Given the description of an element on the screen output the (x, y) to click on. 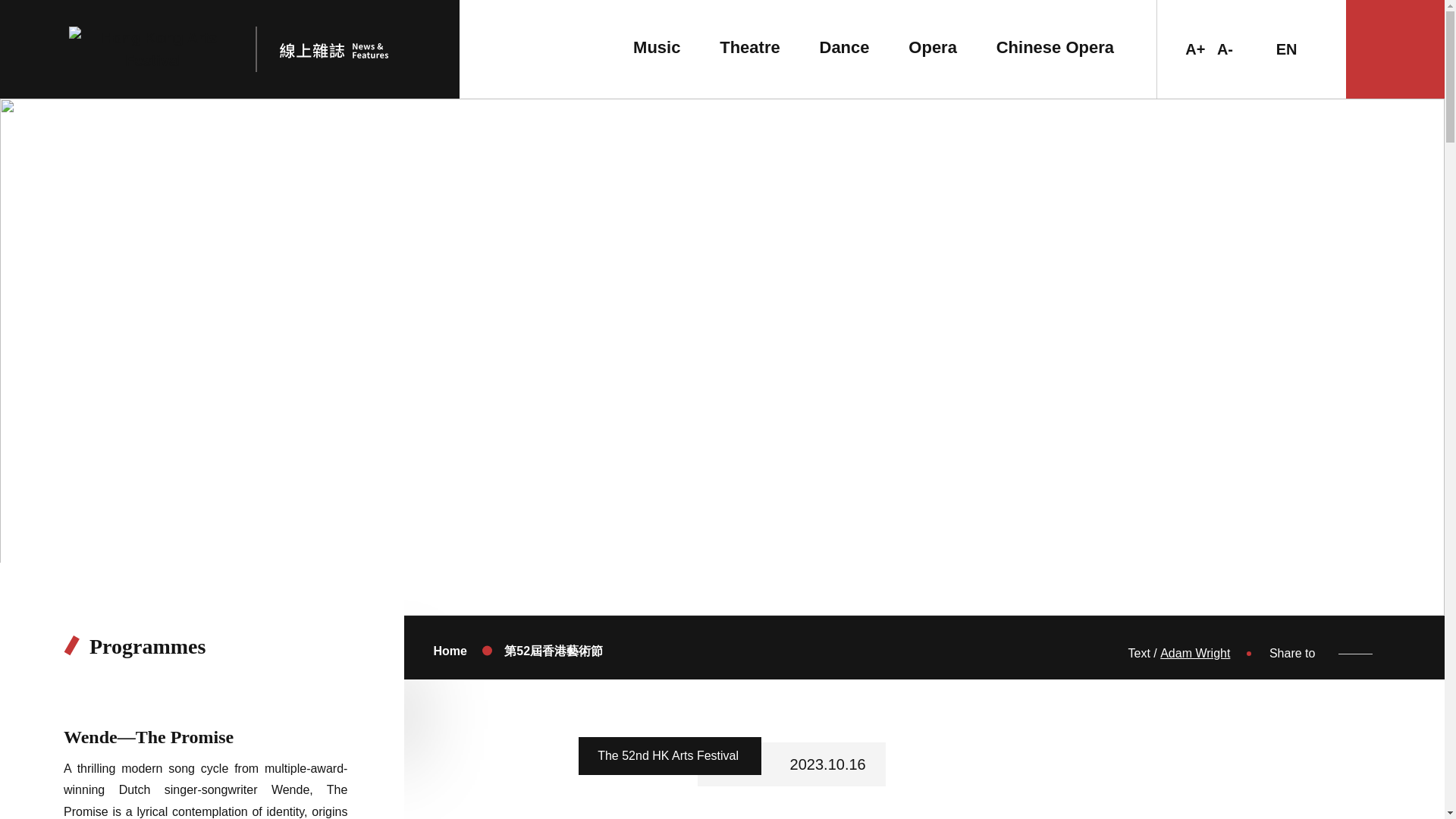
Opera (932, 46)
Adam Wright (1195, 653)
Dance (843, 46)
Home (448, 650)
Chinese Opera (1054, 46)
Music (656, 46)
Theatre (748, 46)
